Given the description of an element on the screen output the (x, y) to click on. 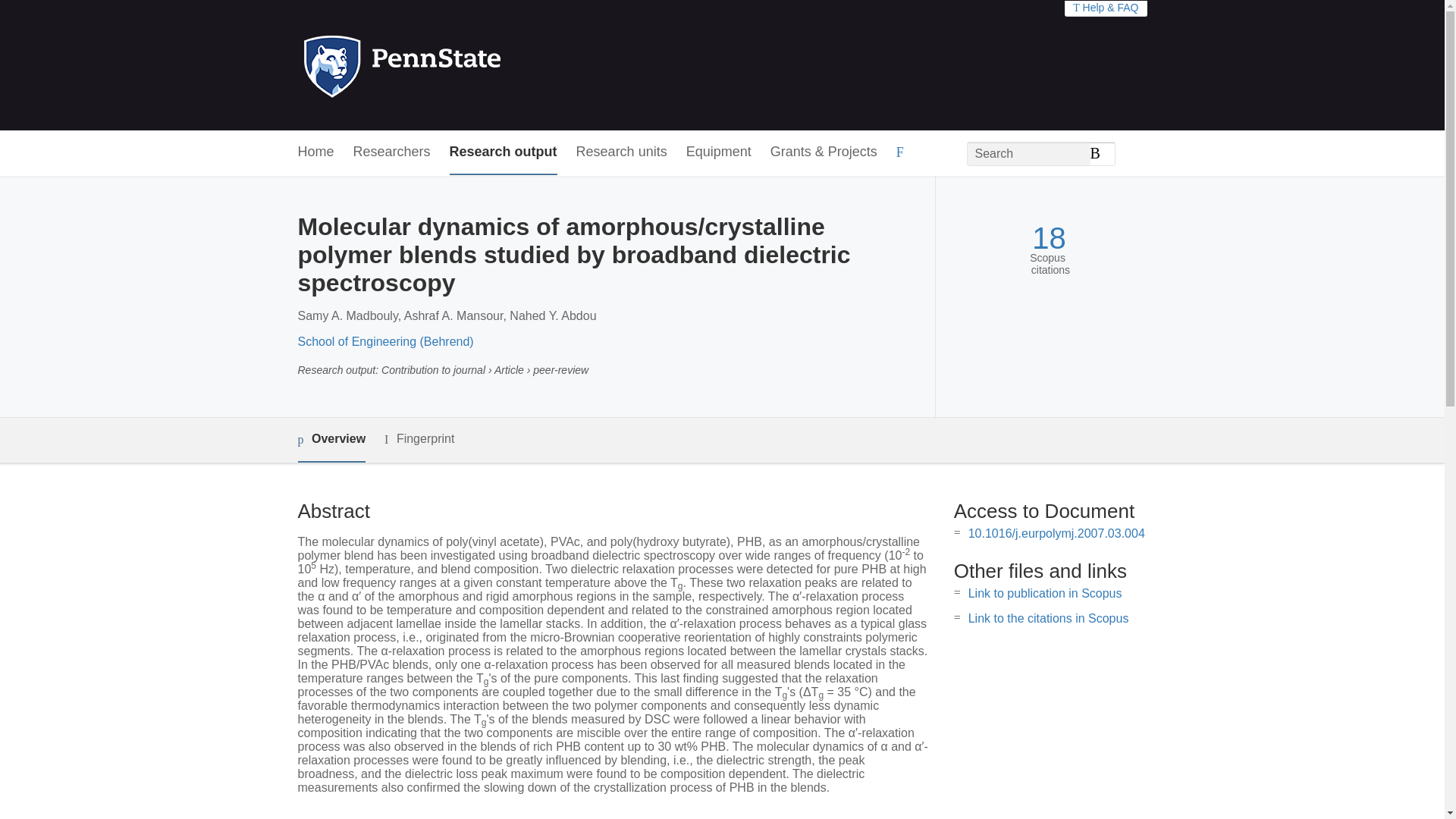
18 (1048, 238)
Research units (621, 152)
Penn State Home (467, 65)
Link to the citations in Scopus (1048, 617)
Fingerprint (419, 439)
Researchers (391, 152)
Research output (503, 152)
Overview (331, 439)
Link to publication in Scopus (1045, 593)
